Given the description of an element on the screen output the (x, y) to click on. 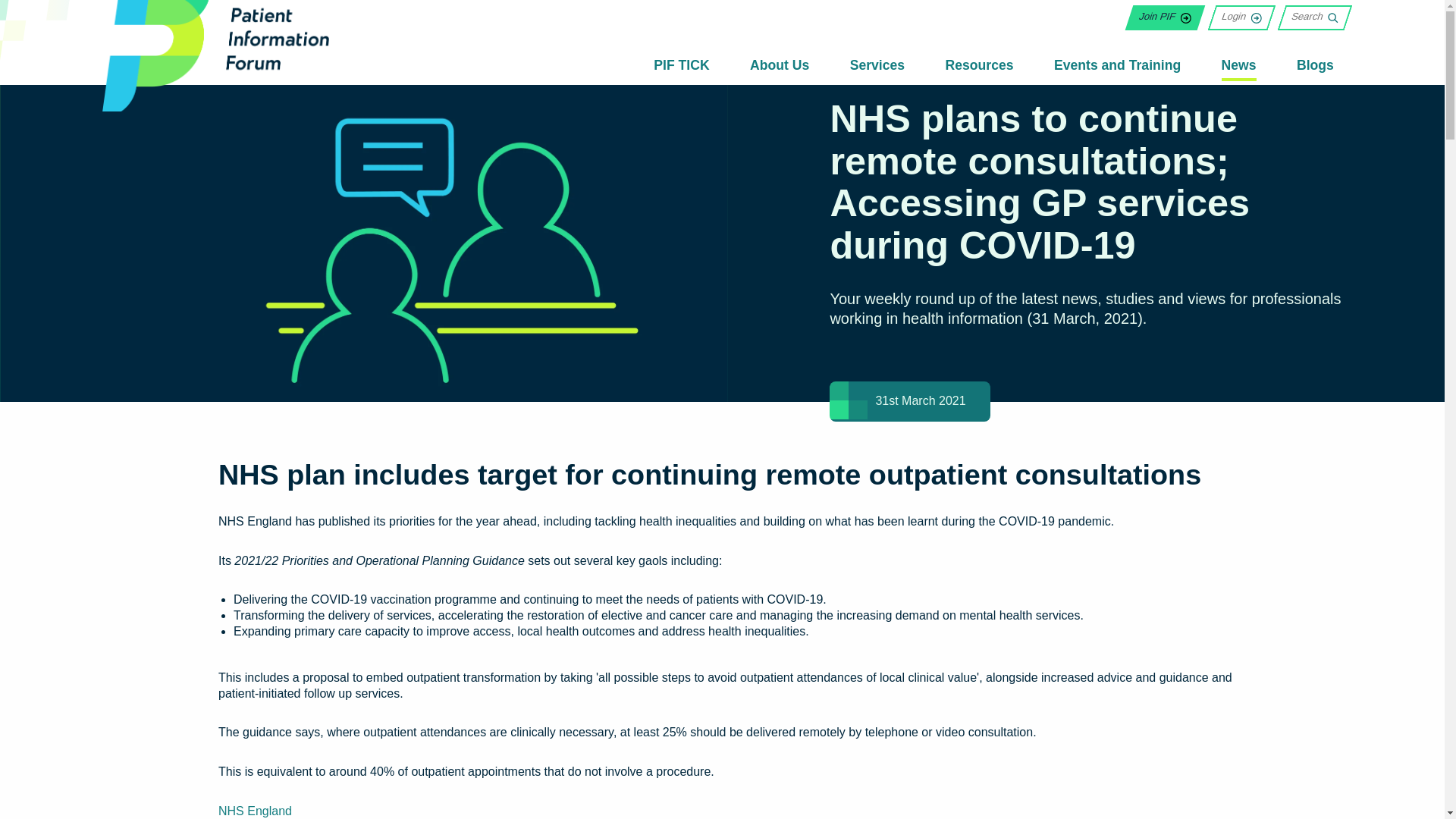
Join PIF (1160, 17)
Login (1236, 17)
NHS England (255, 810)
Resources (978, 66)
News (1238, 68)
PIF TICK (681, 66)
Search (1310, 17)
Services (877, 66)
About Us (779, 66)
Blogs (1315, 66)
